Given the description of an element on the screen output the (x, y) to click on. 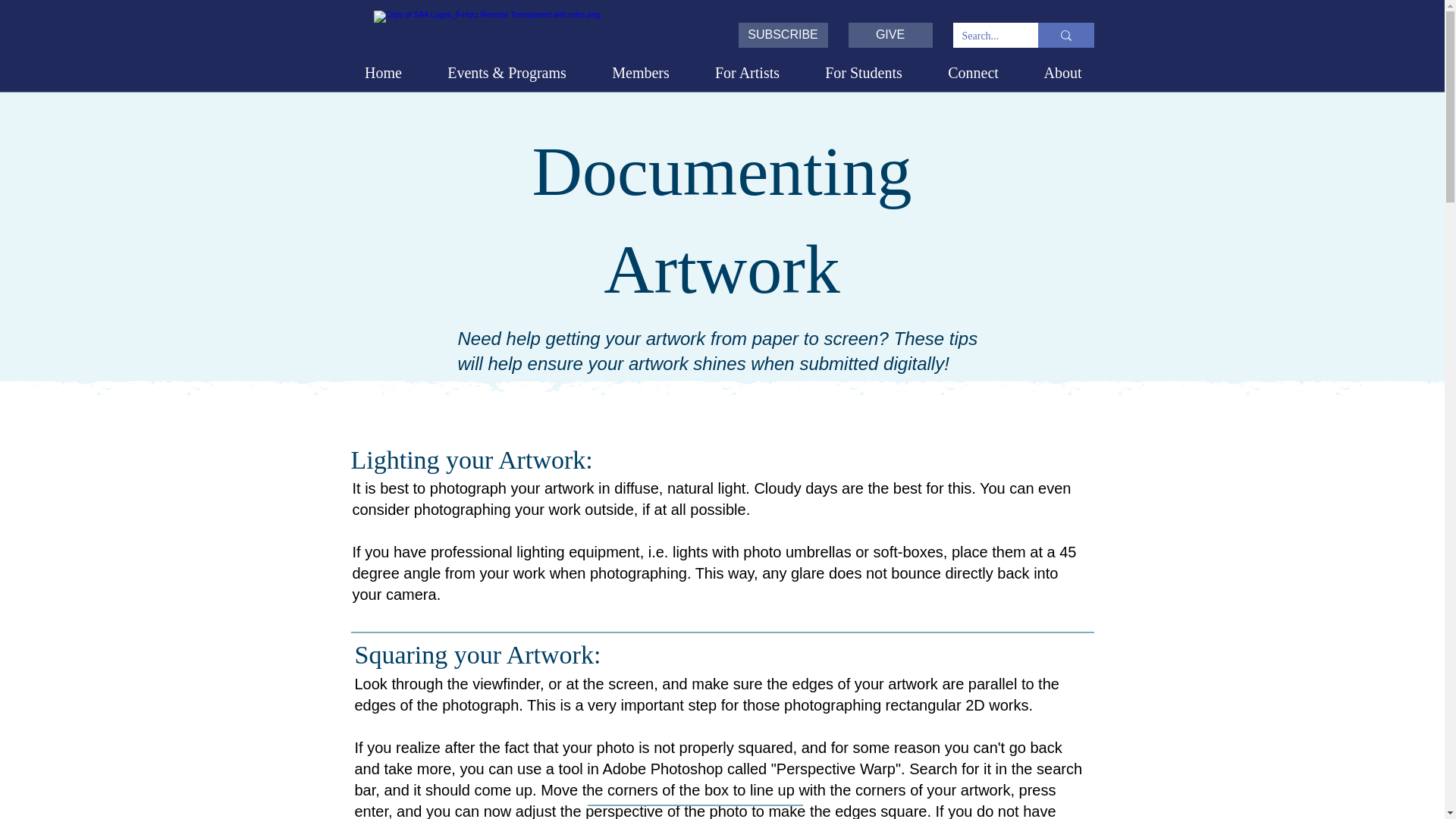
GIVE (889, 34)
Home (383, 72)
SUBSCRIBE (783, 34)
